Given the description of an element on the screen output the (x, y) to click on. 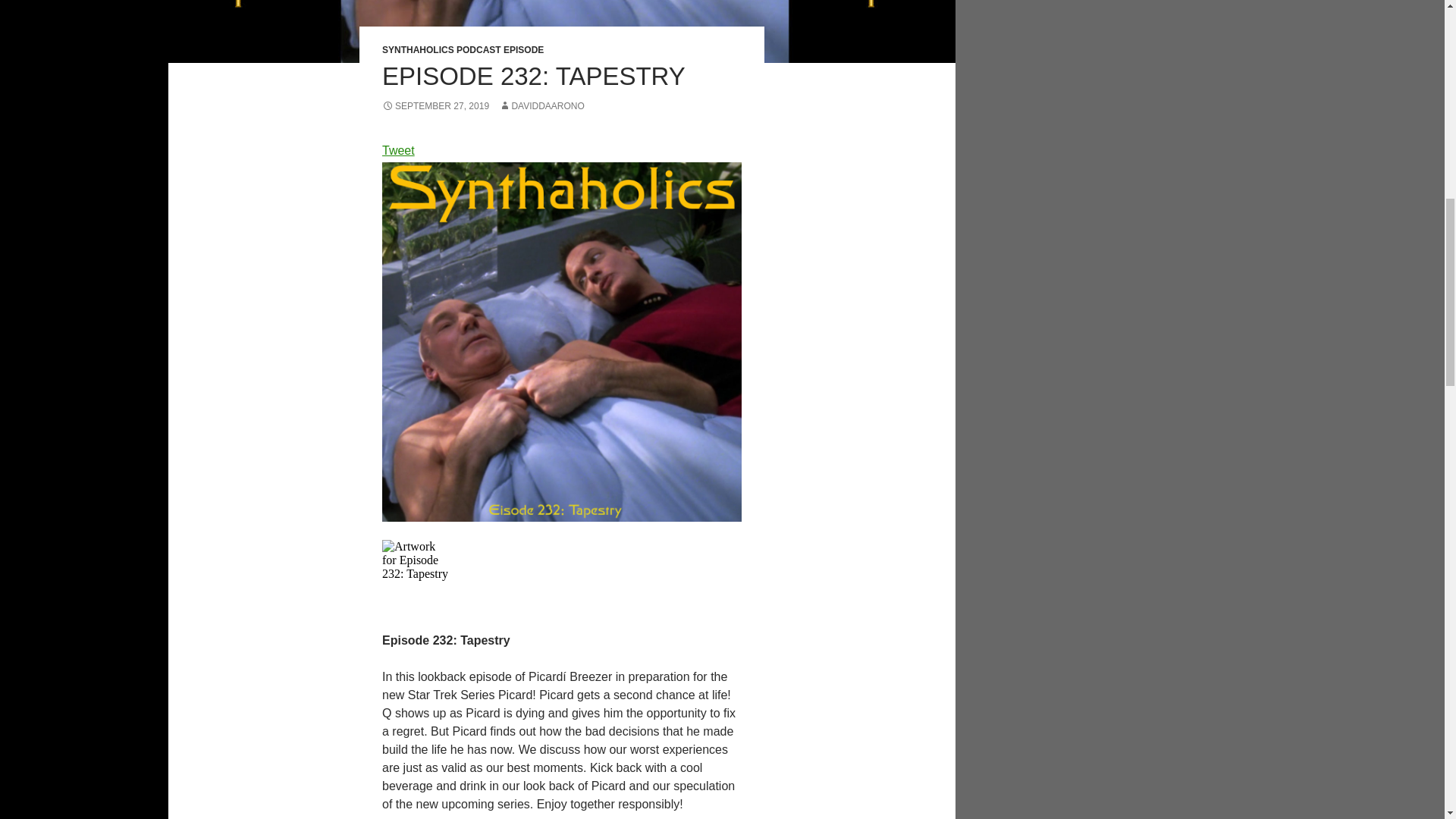
Tweet (397, 150)
SEPTEMBER 27, 2019 (435, 105)
SYNTHAHOLICS PODCAST EPISODE (462, 50)
DAVIDDAARONO (541, 105)
